Given the description of an element on the screen output the (x, y) to click on. 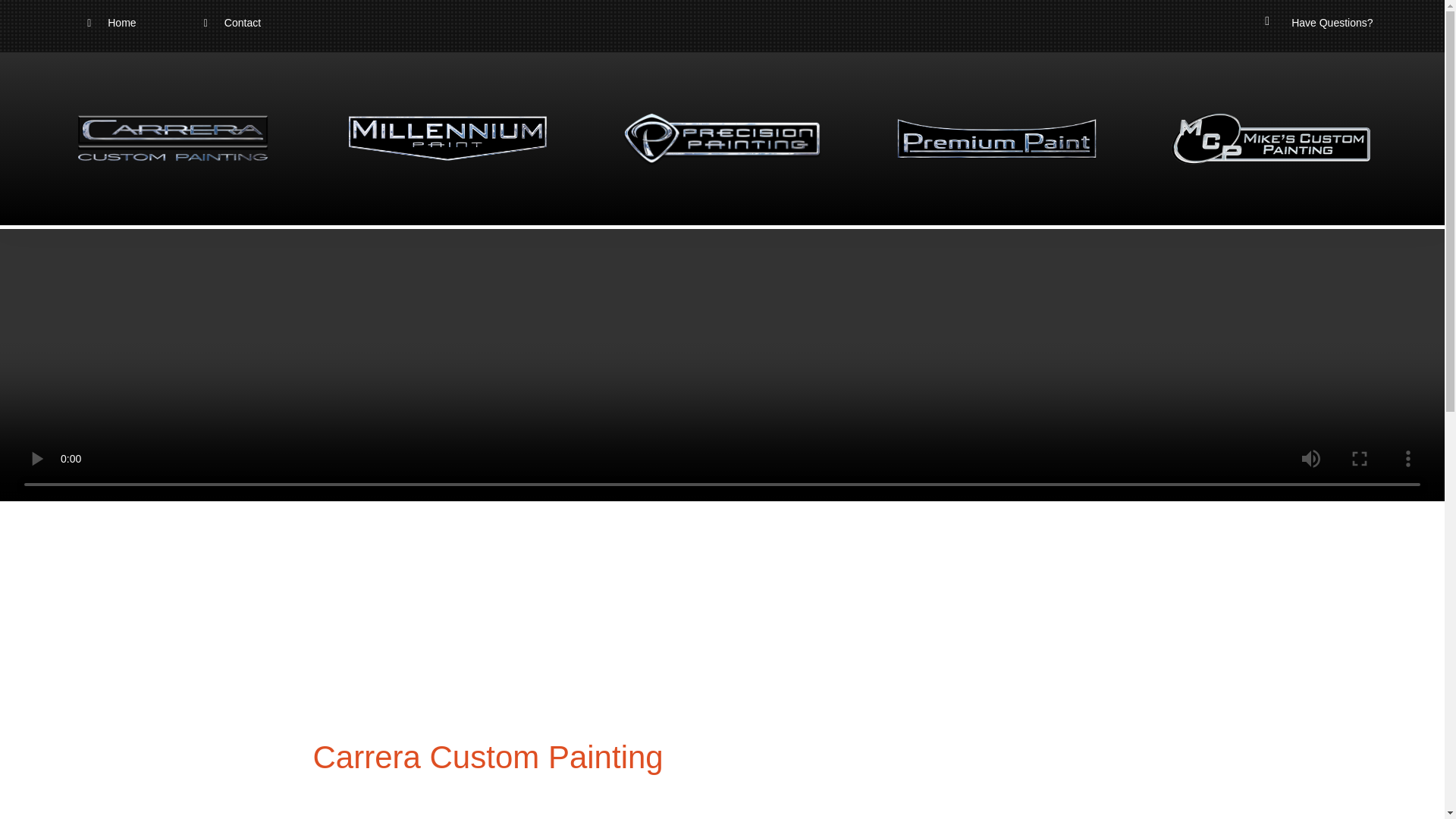
Millennium Paint logo (447, 138)
Precision Painting (722, 138)
Carrera Custom Painting logo (173, 138)
Premium-Logo (996, 137)
Have Questions? (1332, 22)
